Given the description of an element on the screen output the (x, y) to click on. 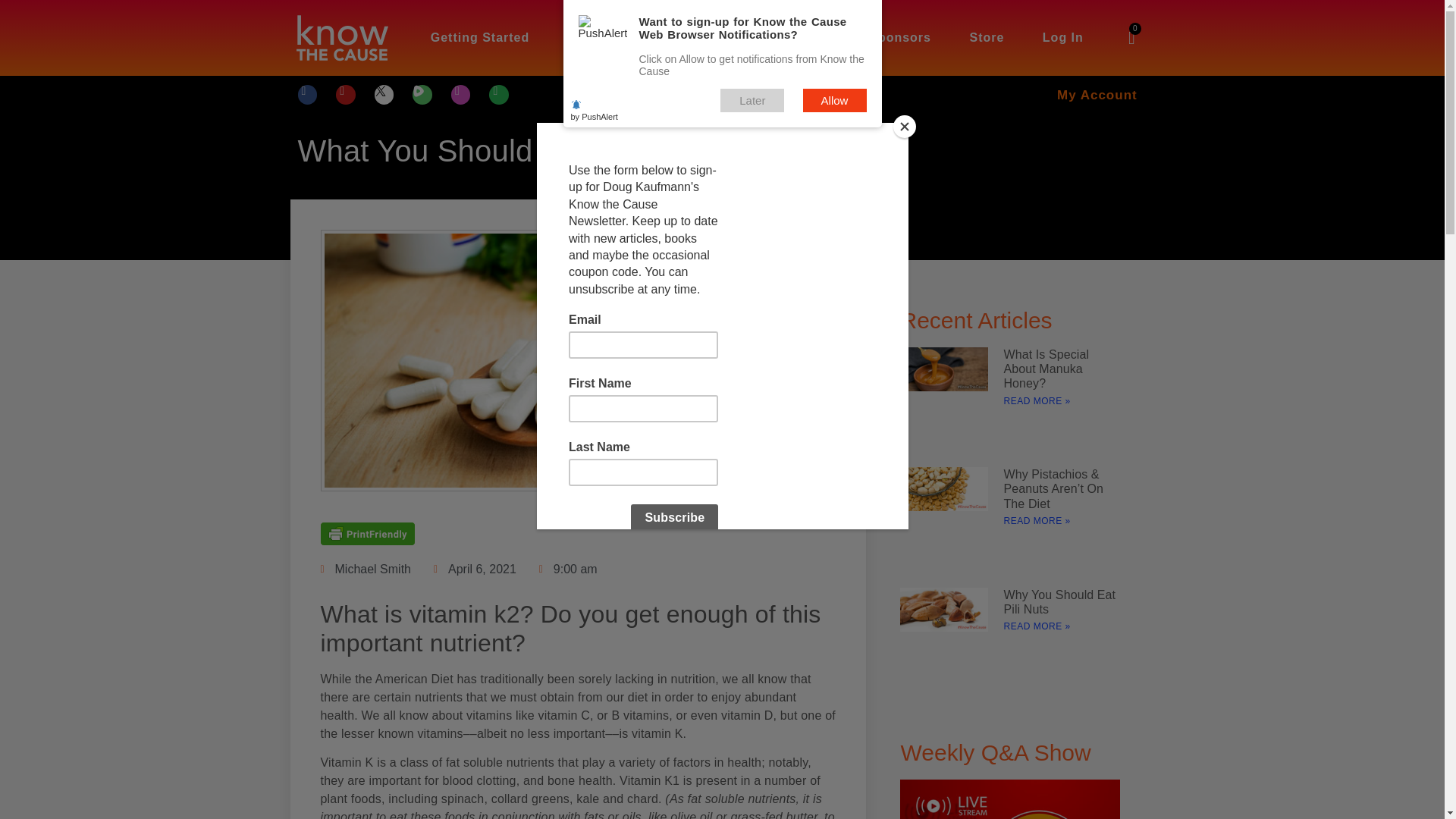
Store (986, 37)
Log In (1062, 37)
Sponsors (900, 37)
Articles (715, 37)
Recipes (805, 37)
Click to Watch or Listen our latest videos and Podcasts (609, 37)
Click to view our Articles (715, 37)
Click to view the Getting Started page (479, 37)
Getting Started (479, 37)
